Given the description of an element on the screen output the (x, y) to click on. 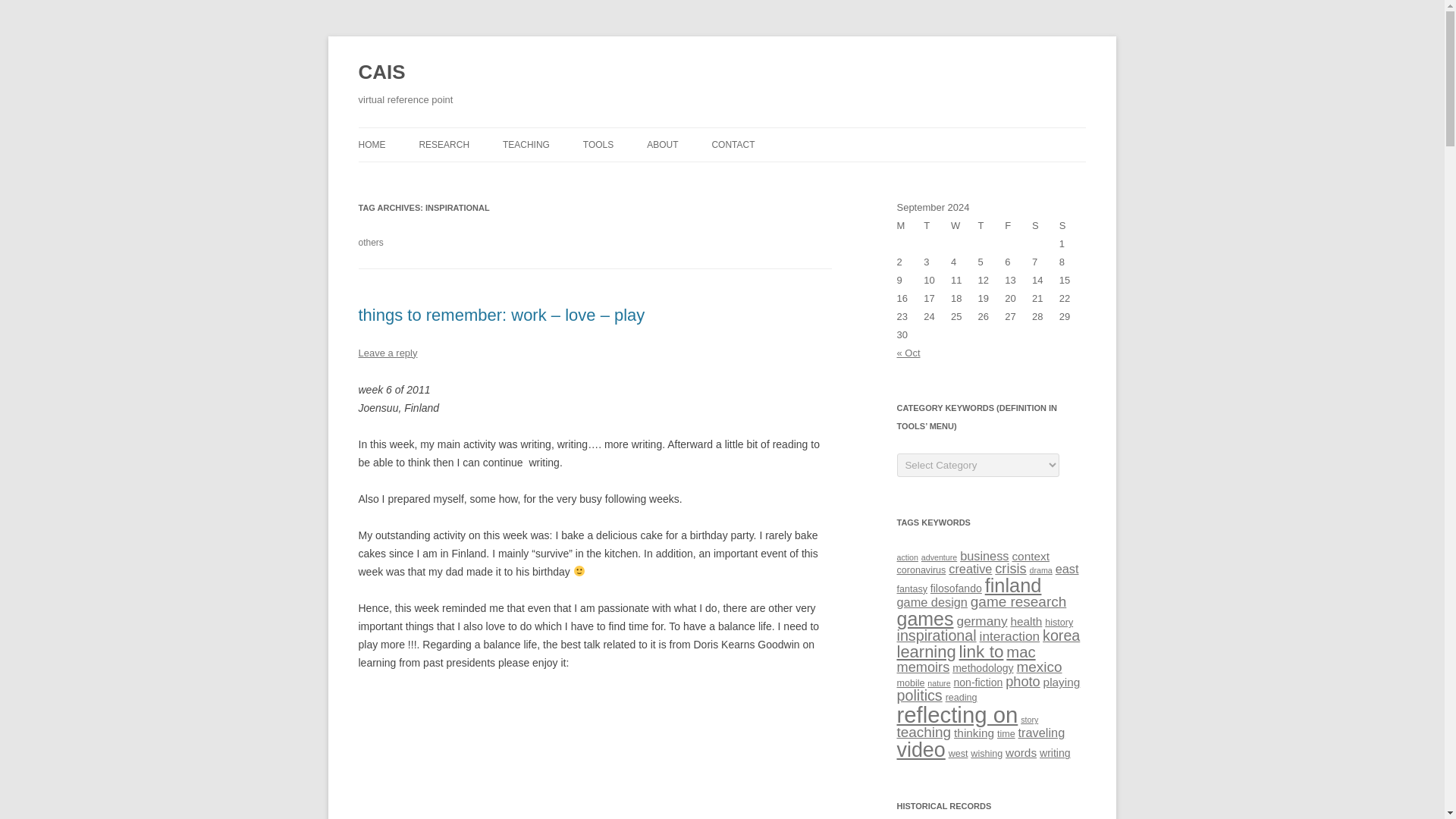
1. LITERATURE SEARCH (577, 176)
TOOLS (597, 144)
FACTS (721, 176)
HCG (494, 176)
ABOUT (662, 144)
CONTACT (732, 144)
PLAYED GAMES LOG (659, 176)
Tuesday (936, 226)
